Given the description of an element on the screen output the (x, y) to click on. 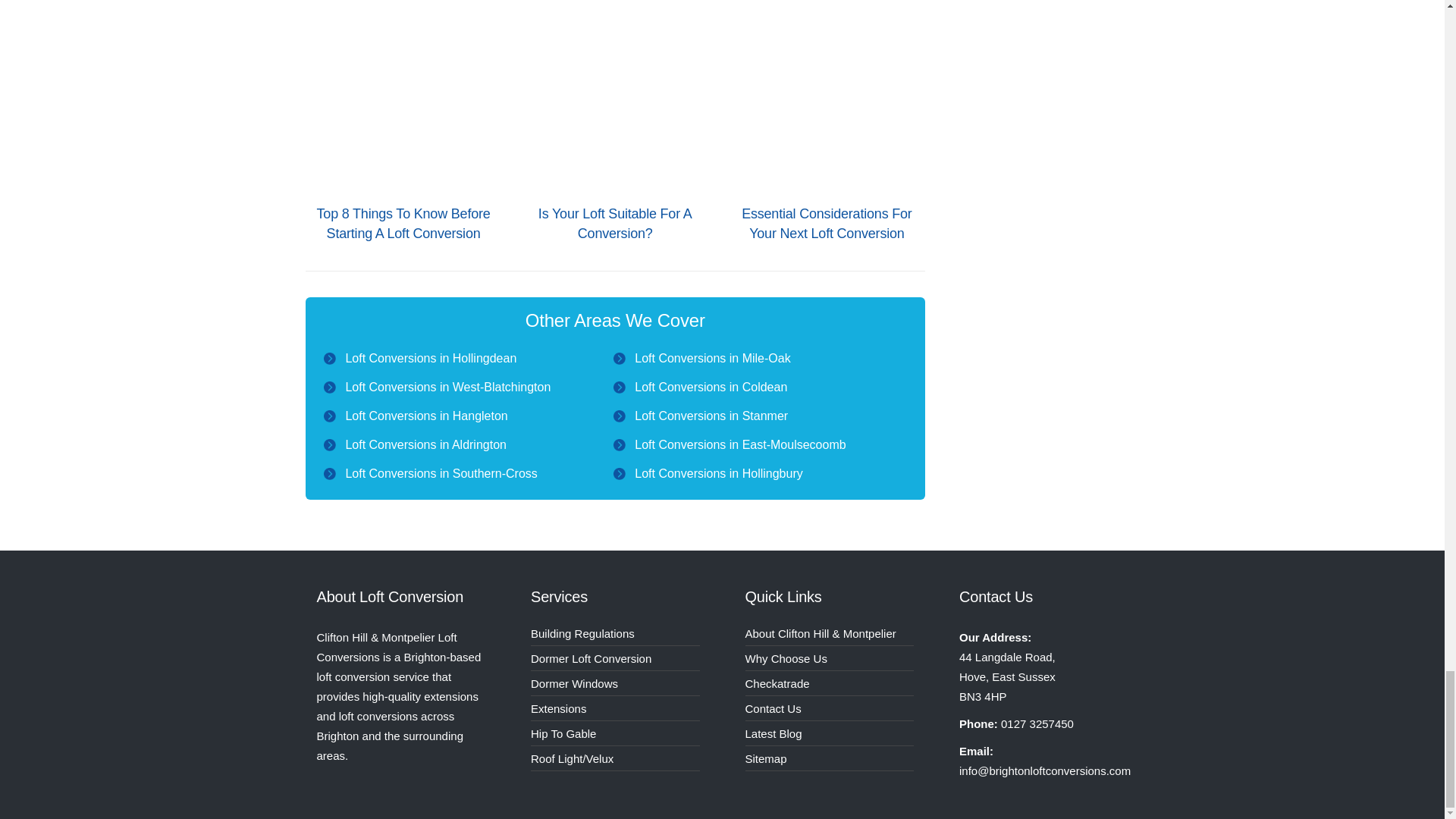
Top 8 Things to Know Before Starting a Loft Conversion (403, 223)
Top 8 Things to Know Before Starting a Loft Conversion (402, 96)
